Given the description of an element on the screen output the (x, y) to click on. 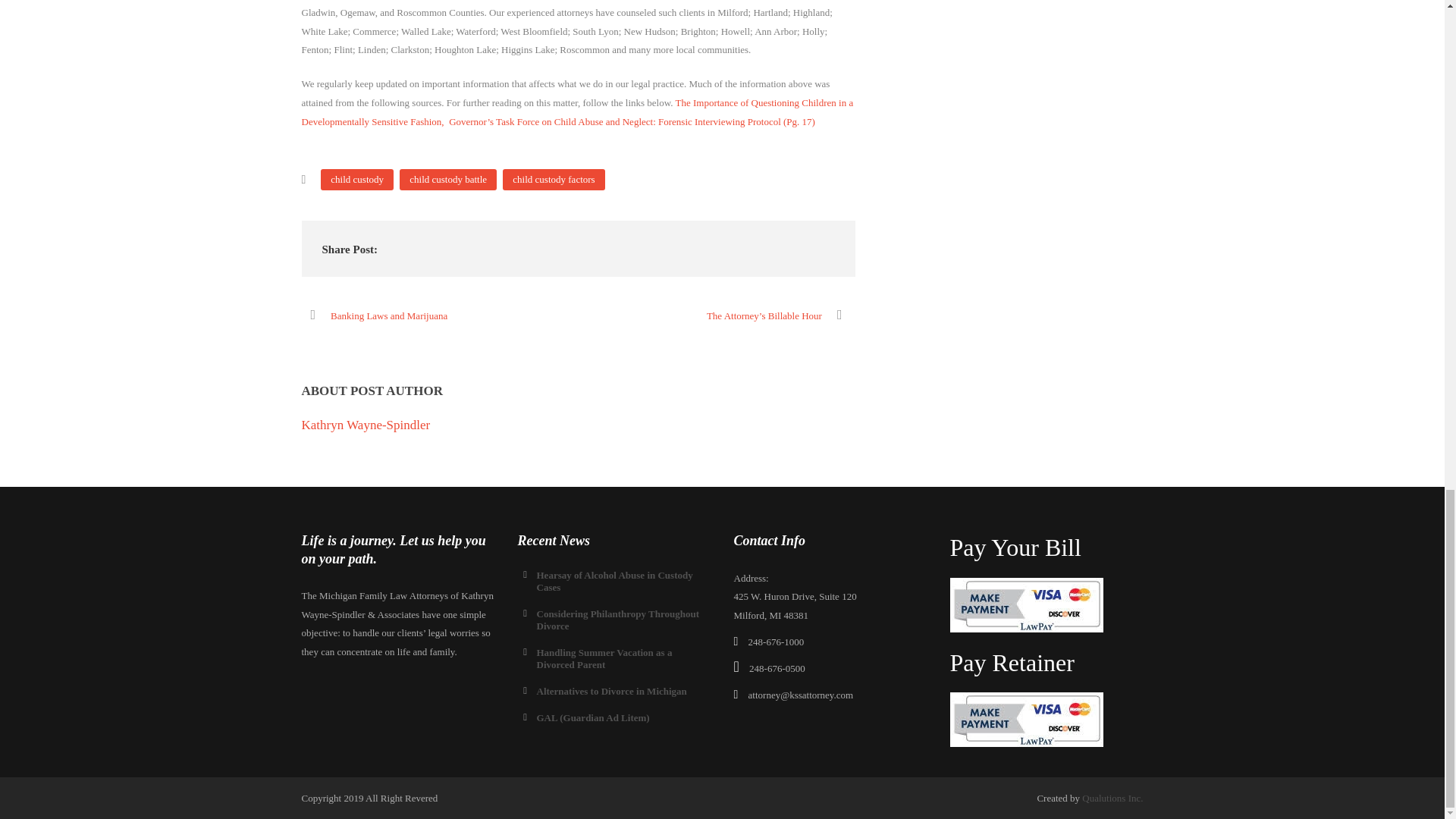
Posts by Kathryn Wayne-Spindler (365, 424)
